Given the description of an element on the screen output the (x, y) to click on. 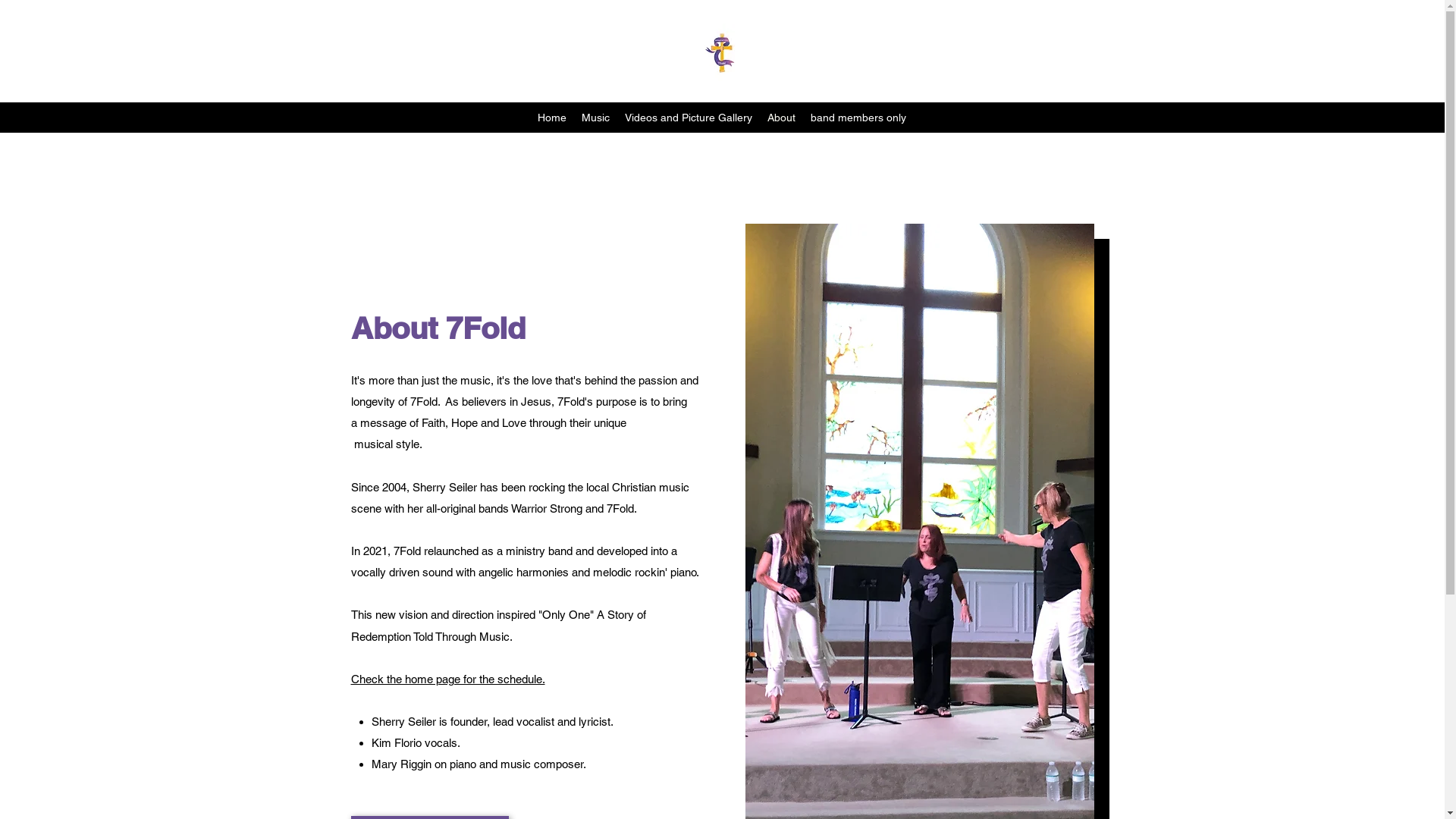
Home Element type: text (552, 117)
band members only Element type: text (858, 117)
Videos and Picture Gallery Element type: text (688, 117)
Check the home page for the schedule. Element type: text (447, 678)
Music Element type: text (595, 117)
About Element type: text (781, 117)
